Given the description of an element on the screen output the (x, y) to click on. 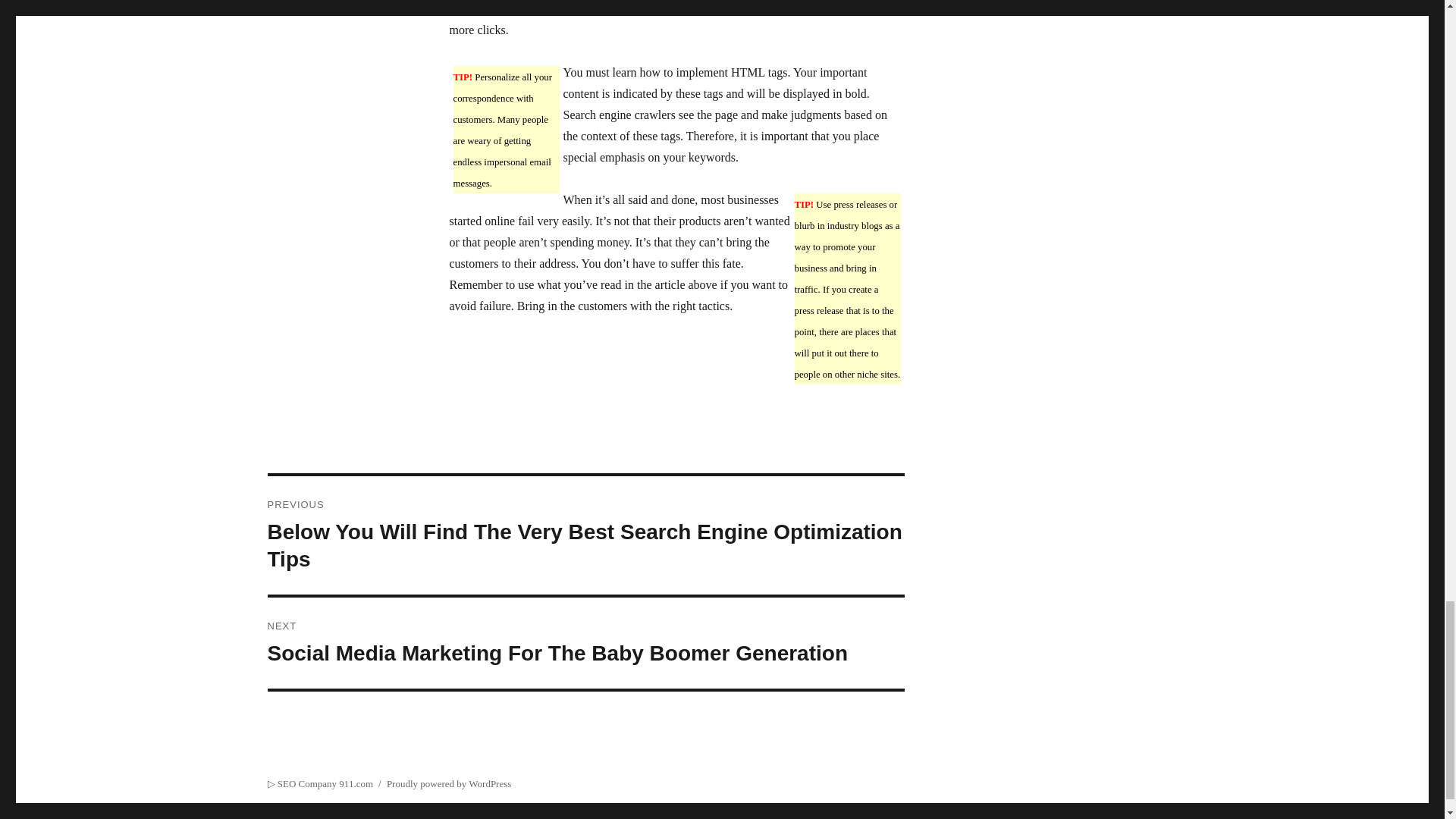
Proudly powered by WordPress (449, 783)
